Given the description of an element on the screen output the (x, y) to click on. 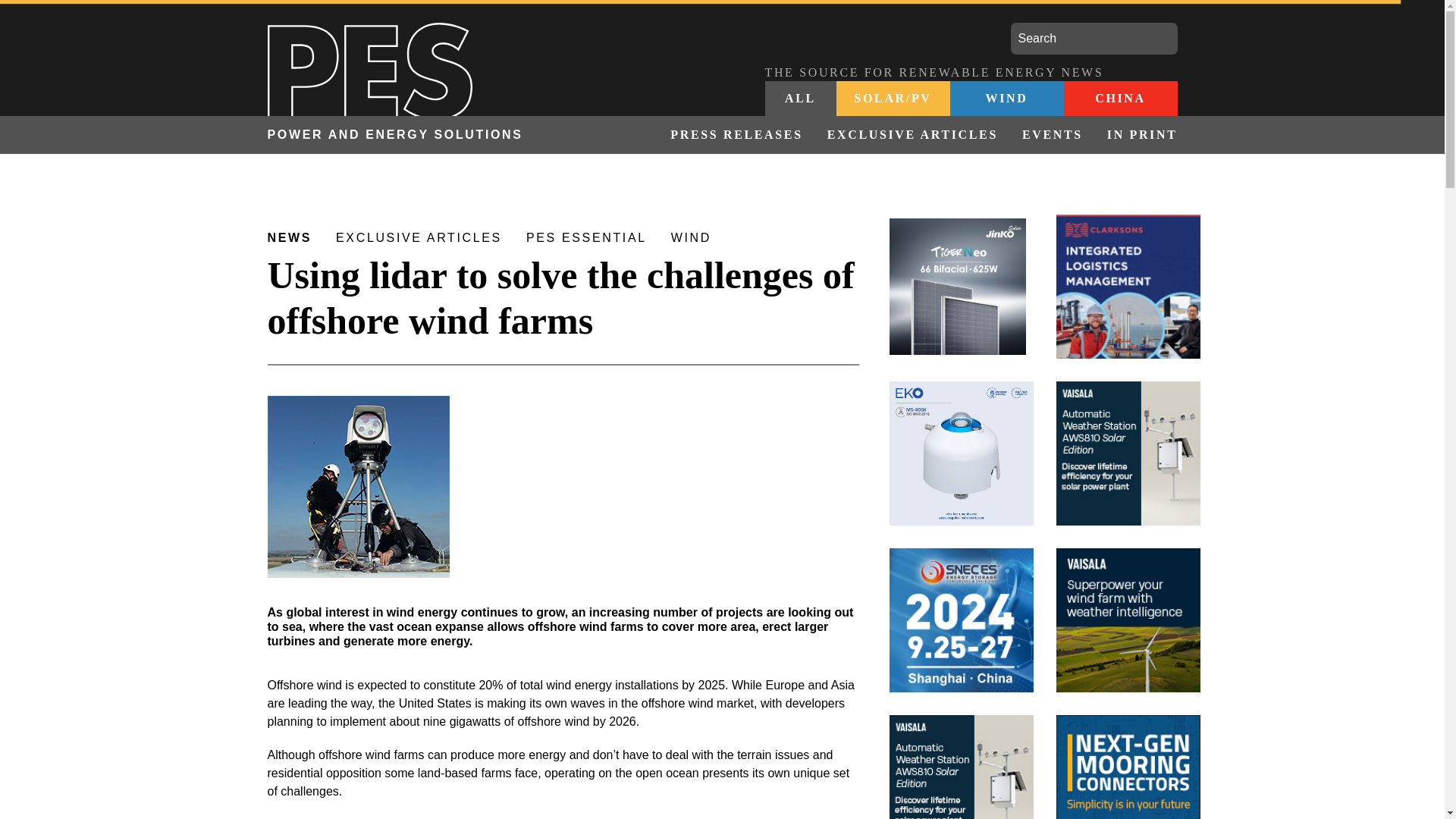
Search for: (1093, 38)
PRESS RELEASES (735, 134)
IN PRINT (1135, 134)
ALL (799, 98)
CHINA (1119, 98)
EVENTS (1052, 134)
WIND (1005, 98)
EXCLUSIVE ARTICLES (912, 134)
